Given the description of an element on the screen output the (x, y) to click on. 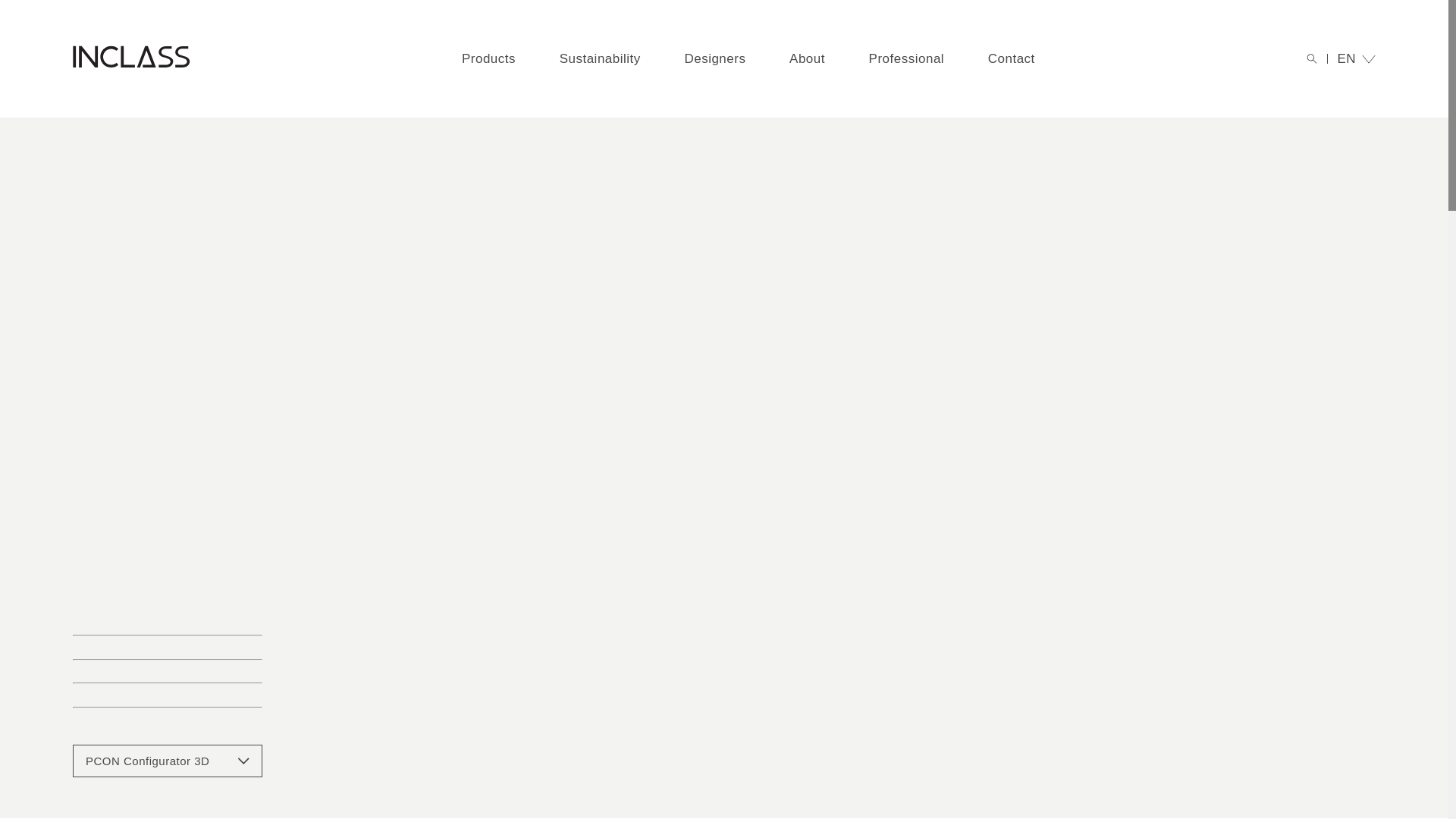
About (807, 58)
Products (488, 58)
Search (1344, 15)
Designers (714, 58)
Contact (1011, 58)
Sustainability (599, 58)
Professional (906, 58)
